Given the description of an element on the screen output the (x, y) to click on. 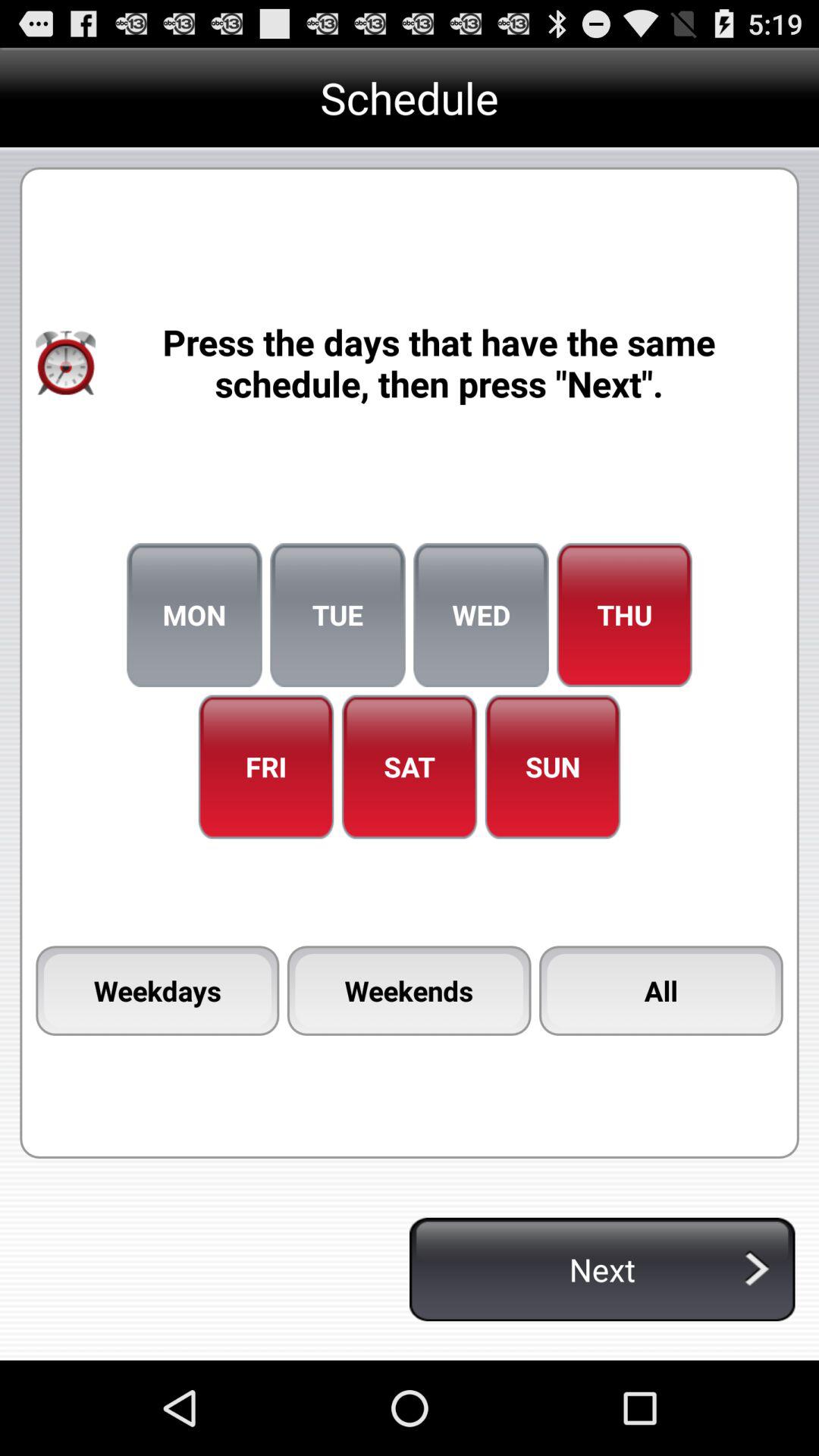
scroll until weekends item (409, 990)
